Given the description of an element on the screen output the (x, y) to click on. 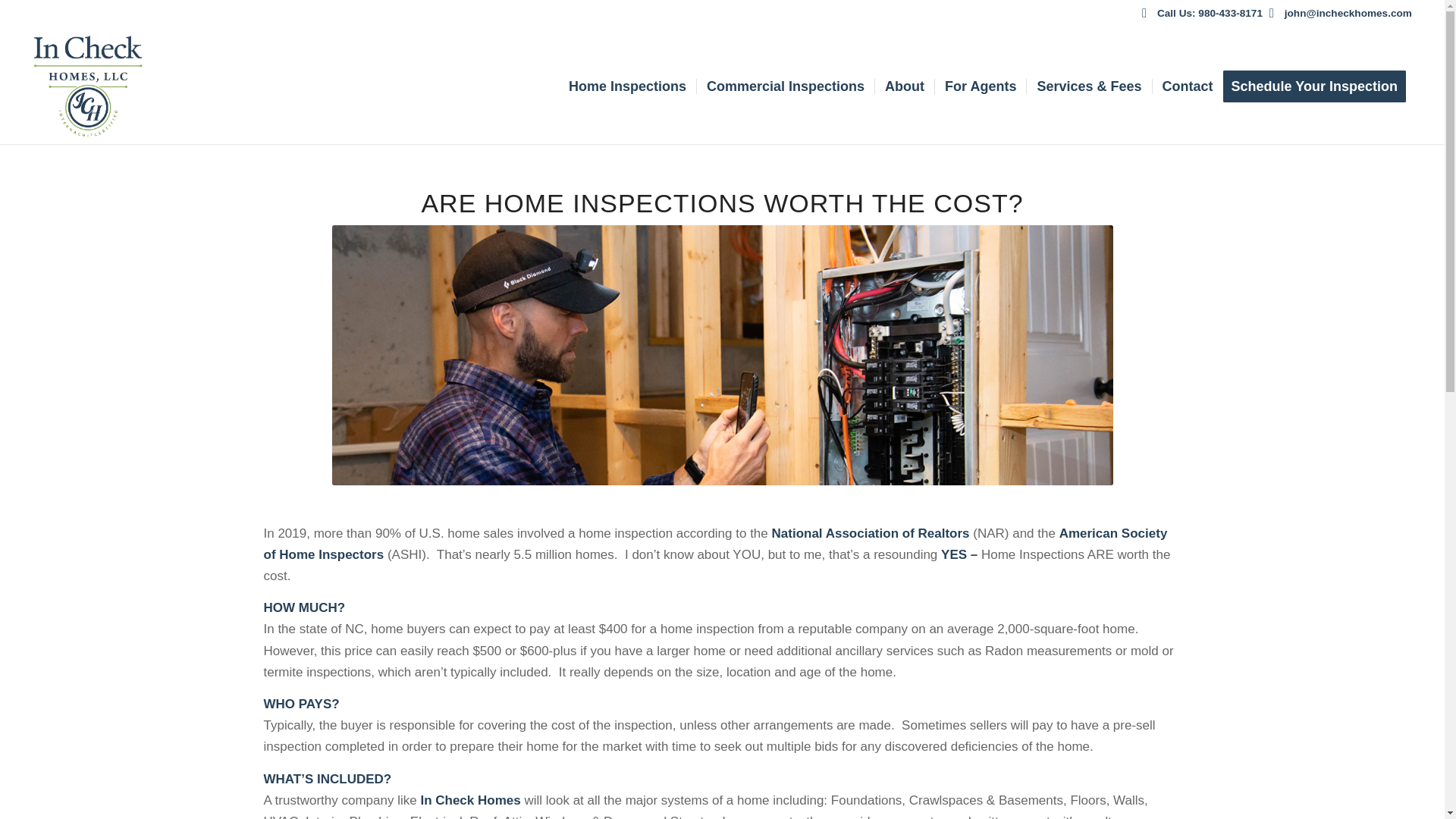
Home Inspections (627, 86)
Call Us: 980-433-8171 (1209, 12)
Commercial Inspections (785, 86)
Schedule Your Inspection (1319, 86)
In Check Homes (469, 800)
